Given the description of an element on the screen output the (x, y) to click on. 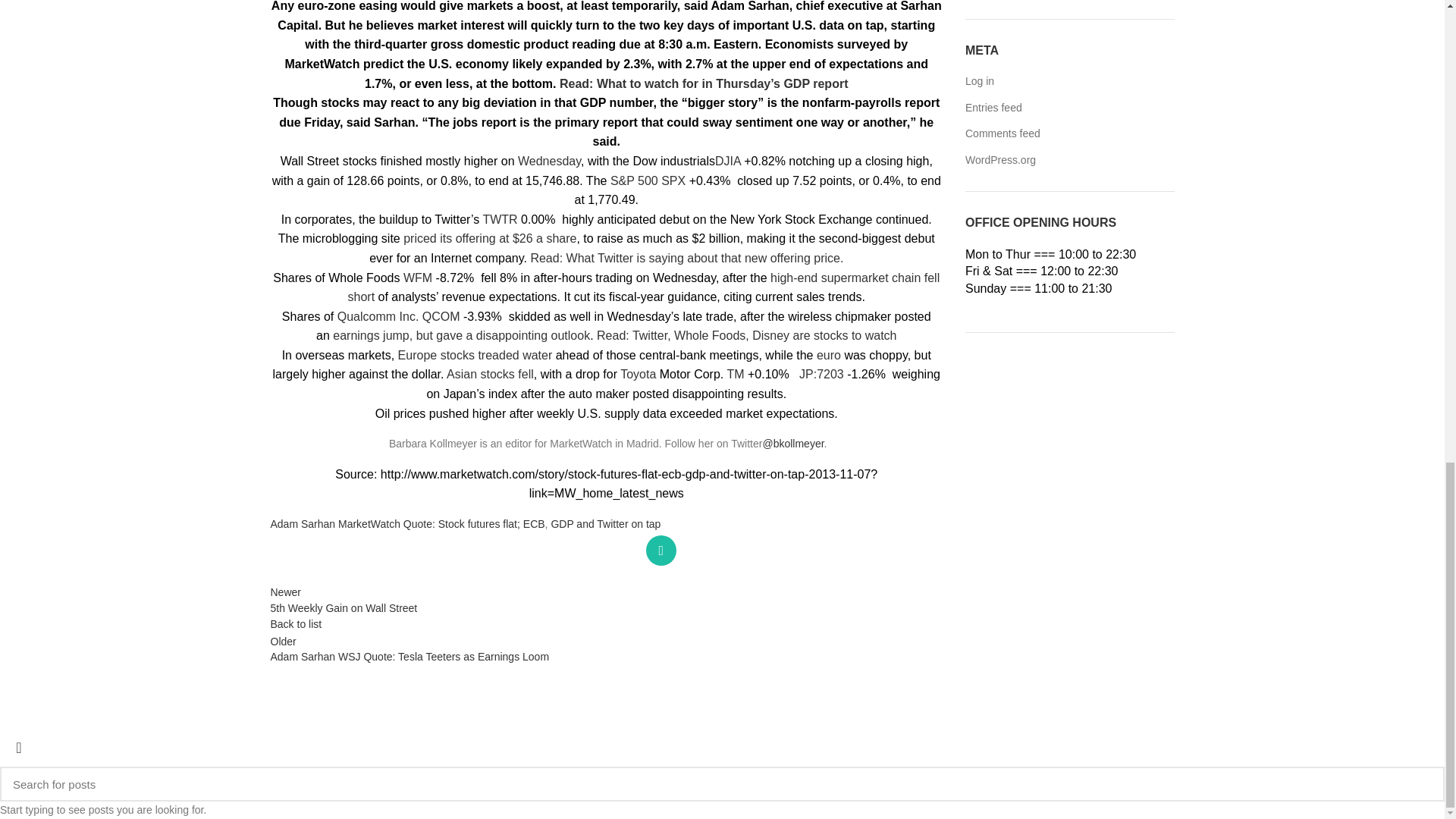
Wednesday (549, 160)
TWTR (498, 219)
DJIA (727, 160)
SPX (673, 180)
